Given the description of an element on the screen output the (x, y) to click on. 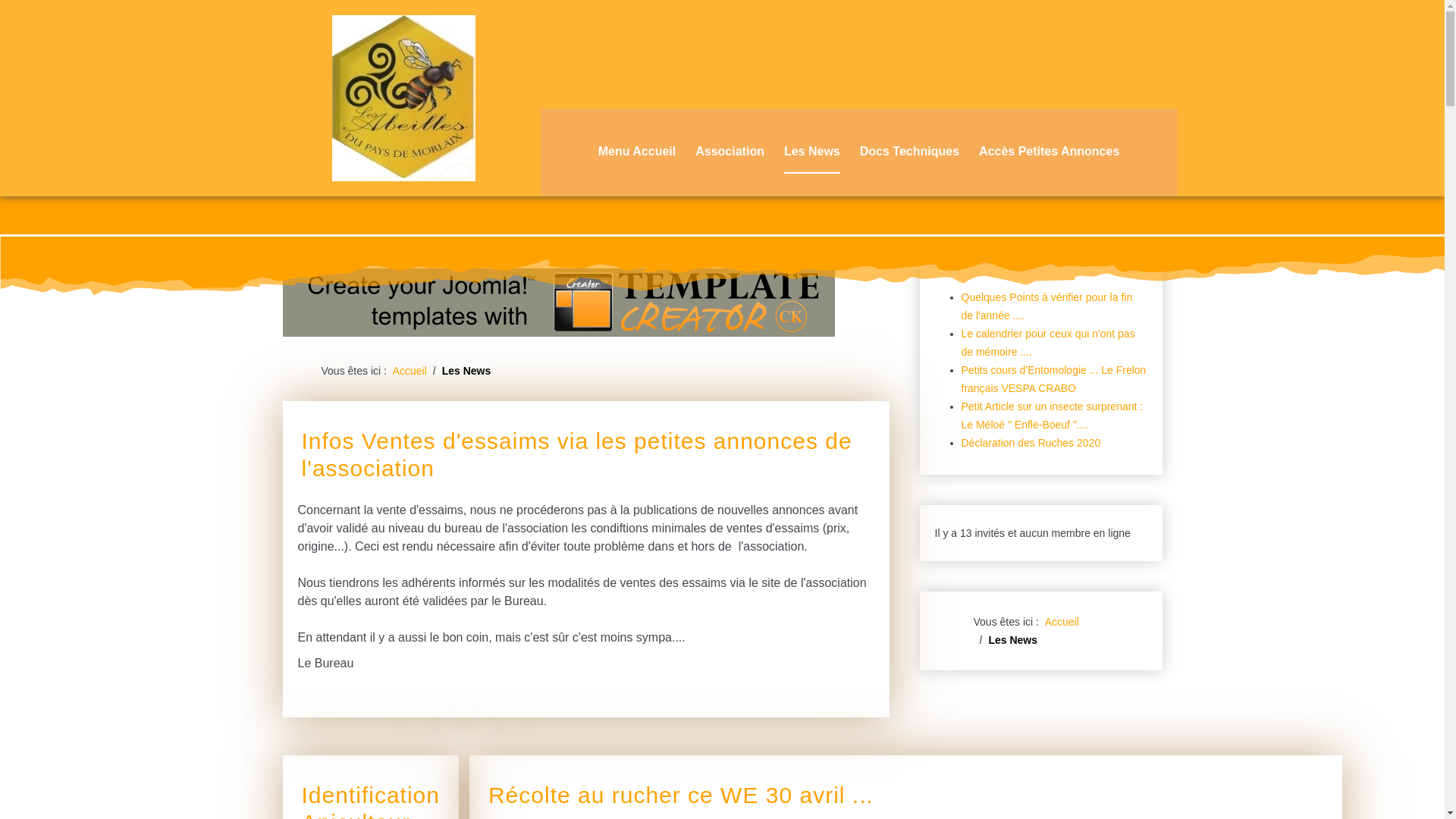
Accueil Element type: text (1061, 621)
Accueil Element type: text (409, 370)
Association Element type: text (729, 151)
Menu Accueil Element type: text (637, 151)
Docs Techniques Element type: text (909, 151)
Les News Element type: text (812, 152)
